Given the description of an element on the screen output the (x, y) to click on. 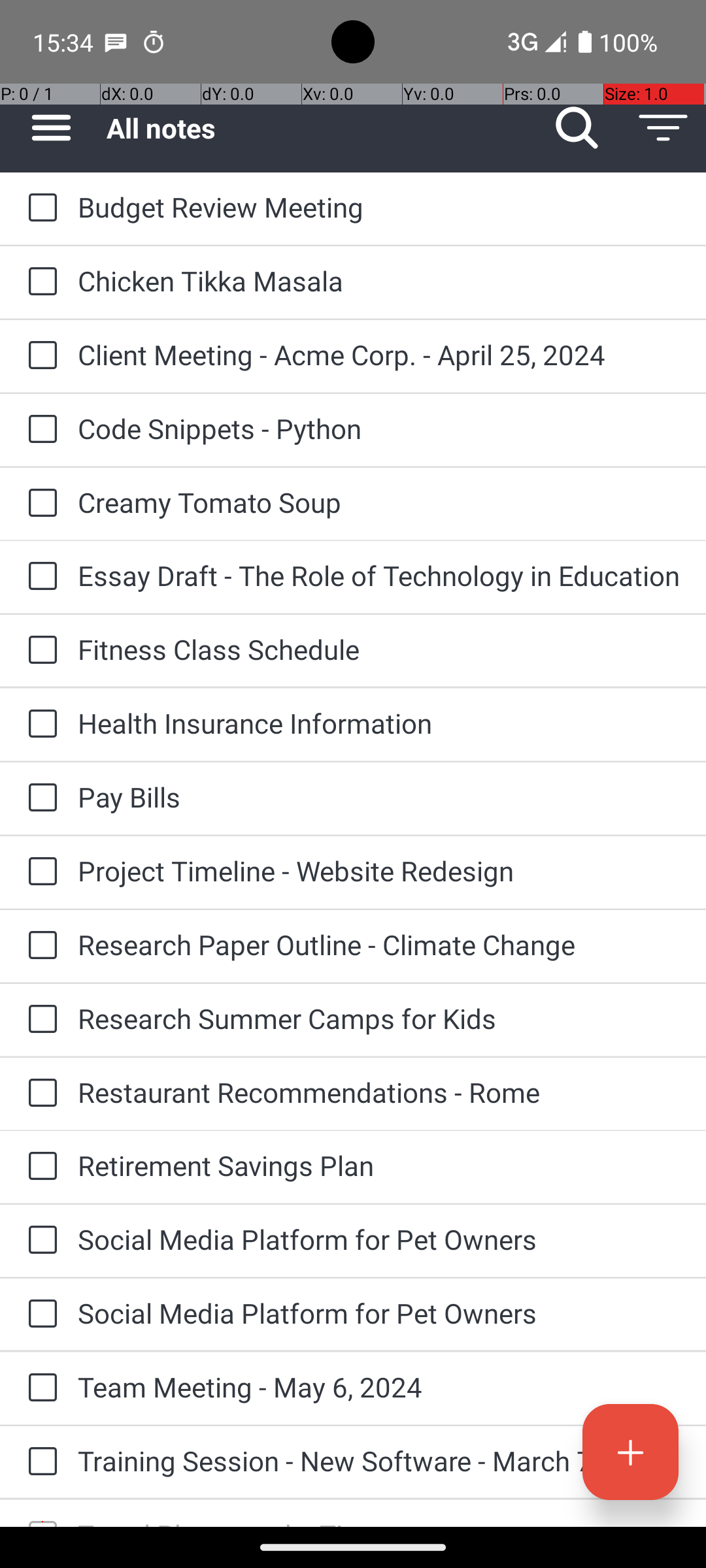
to-do: Budget Review Meeting Element type: android.widget.CheckBox (38, 208)
Budget Review Meeting Element type: android.widget.TextView (378, 206)
to-do: Chicken Tikka Masala Element type: android.widget.CheckBox (38, 282)
Chicken Tikka Masala Element type: android.widget.TextView (378, 280)
to-do: Client Meeting - Acme Corp. - April 25, 2024 Element type: android.widget.CheckBox (38, 356)
Client Meeting - Acme Corp. - April 25, 2024 Element type: android.widget.TextView (378, 354)
to-do: Code Snippets - Python Element type: android.widget.CheckBox (38, 429)
Code Snippets - Python Element type: android.widget.TextView (378, 427)
to-do: Creamy Tomato Soup Element type: android.widget.CheckBox (38, 503)
Creamy Tomato Soup Element type: android.widget.TextView (378, 501)
to-do: Fitness Class Schedule Element type: android.widget.CheckBox (38, 650)
Fitness Class Schedule Element type: android.widget.TextView (378, 648)
to-do: Health Insurance Information Element type: android.widget.CheckBox (38, 724)
Health Insurance Information Element type: android.widget.TextView (378, 722)
to-do: Pay Bills Element type: android.widget.CheckBox (38, 798)
Pay Bills Element type: android.widget.TextView (378, 796)
to-do: Project Timeline - Website Redesign Element type: android.widget.CheckBox (38, 872)
Project Timeline - Website Redesign Element type: android.widget.TextView (378, 870)
to-do: Research Paper Outline - Climate Change Element type: android.widget.CheckBox (38, 945)
Research Paper Outline - Climate Change Element type: android.widget.TextView (378, 944)
to-do: Research Summer Camps for Kids Element type: android.widget.CheckBox (38, 1019)
Research Summer Camps for Kids Element type: android.widget.TextView (378, 1017)
to-do: Restaurant Recommendations - Rome Element type: android.widget.CheckBox (38, 1093)
Restaurant Recommendations - Rome Element type: android.widget.TextView (378, 1091)
to-do: Retirement Savings Plan Element type: android.widget.CheckBox (38, 1166)
Retirement Savings Plan Element type: android.widget.TextView (378, 1164)
to-do: Social Media Platform for Pet Owners Element type: android.widget.CheckBox (38, 1240)
Social Media Platform for Pet Owners Element type: android.widget.TextView (378, 1238)
to-do: Team Meeting - May 6, 2024 Element type: android.widget.CheckBox (38, 1388)
Team Meeting - May 6, 2024 Element type: android.widget.TextView (378, 1386)
to-do: Training Session - New Software - March 7, 2024 Element type: android.widget.CheckBox (38, 1462)
Training Session - New Software - March 7, 2024 Element type: android.widget.TextView (378, 1460)
to-do: Travel Photography Tips Element type: android.widget.CheckBox (38, 1513)
Travel Photography Tips Element type: android.widget.TextView (378, 1520)
 Element type: android.widget.TextView (42, 1521)
